Given the description of an element on the screen output the (x, y) to click on. 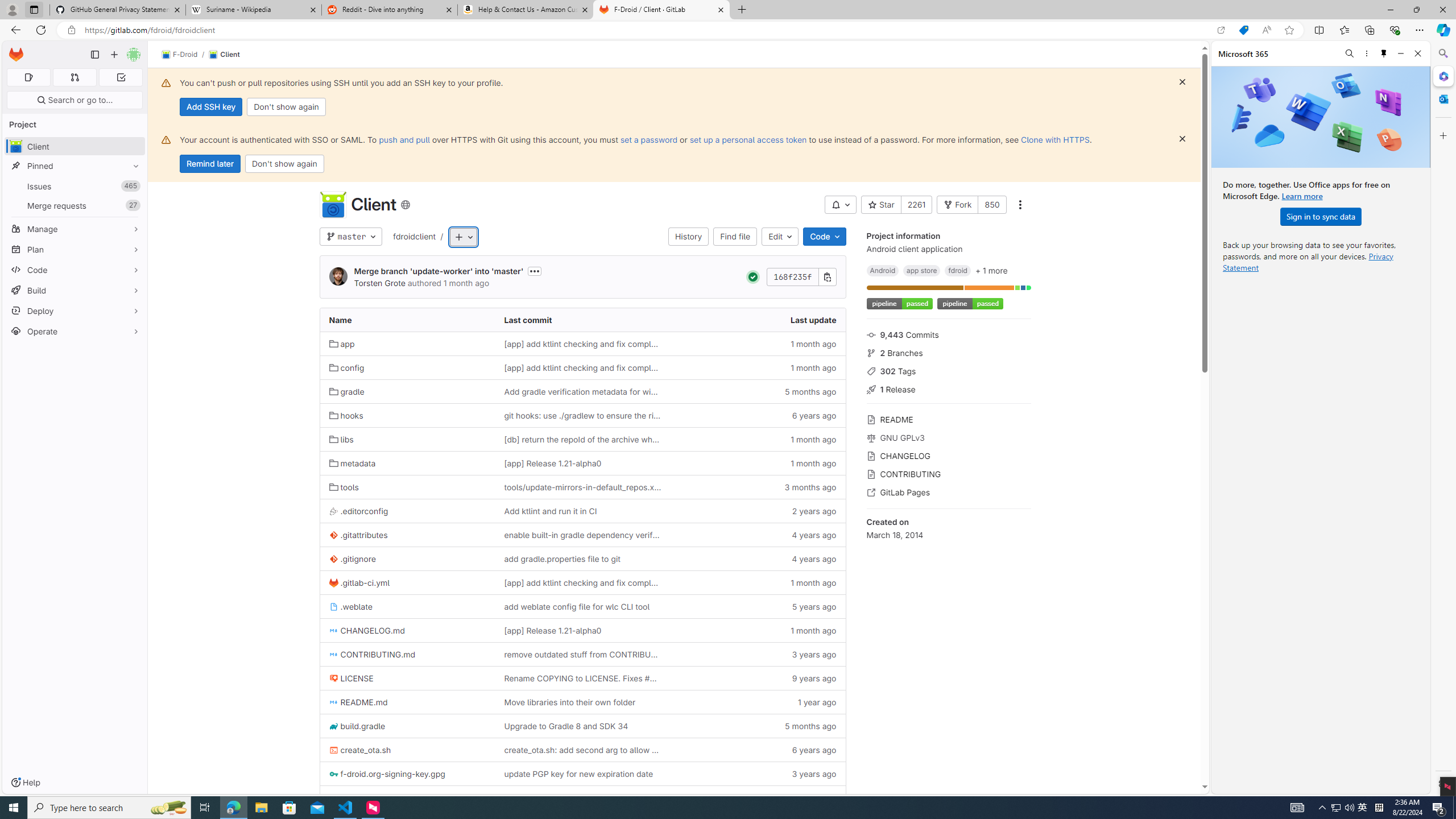
Clone with HTTPS (1054, 139)
GitHub General Privacy Statement - GitHub Docs (117, 9)
302 Tags (948, 369)
Last update (757, 319)
README (948, 418)
Add ktlint and run it in CI (583, 510)
CHANGELOG (948, 455)
Client (332, 204)
History (688, 236)
metadata (407, 463)
Pipeline: Passed (752, 277)
Last commit (583, 319)
[app] Release 1.21-alpha0 (583, 630)
